Given the description of an element on the screen output the (x, y) to click on. 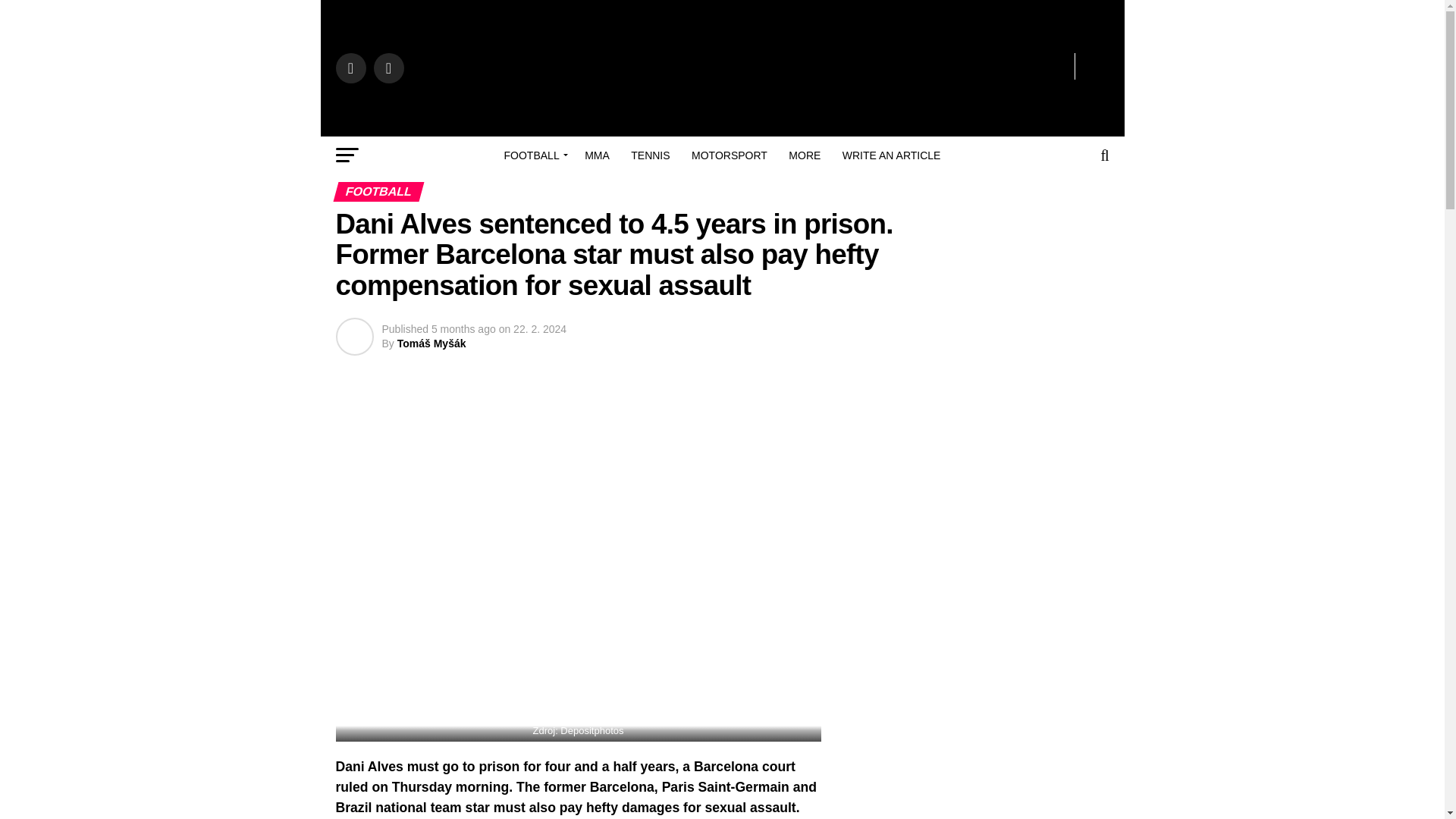
FOOTBALL (533, 155)
